Given the description of an element on the screen output the (x, y) to click on. 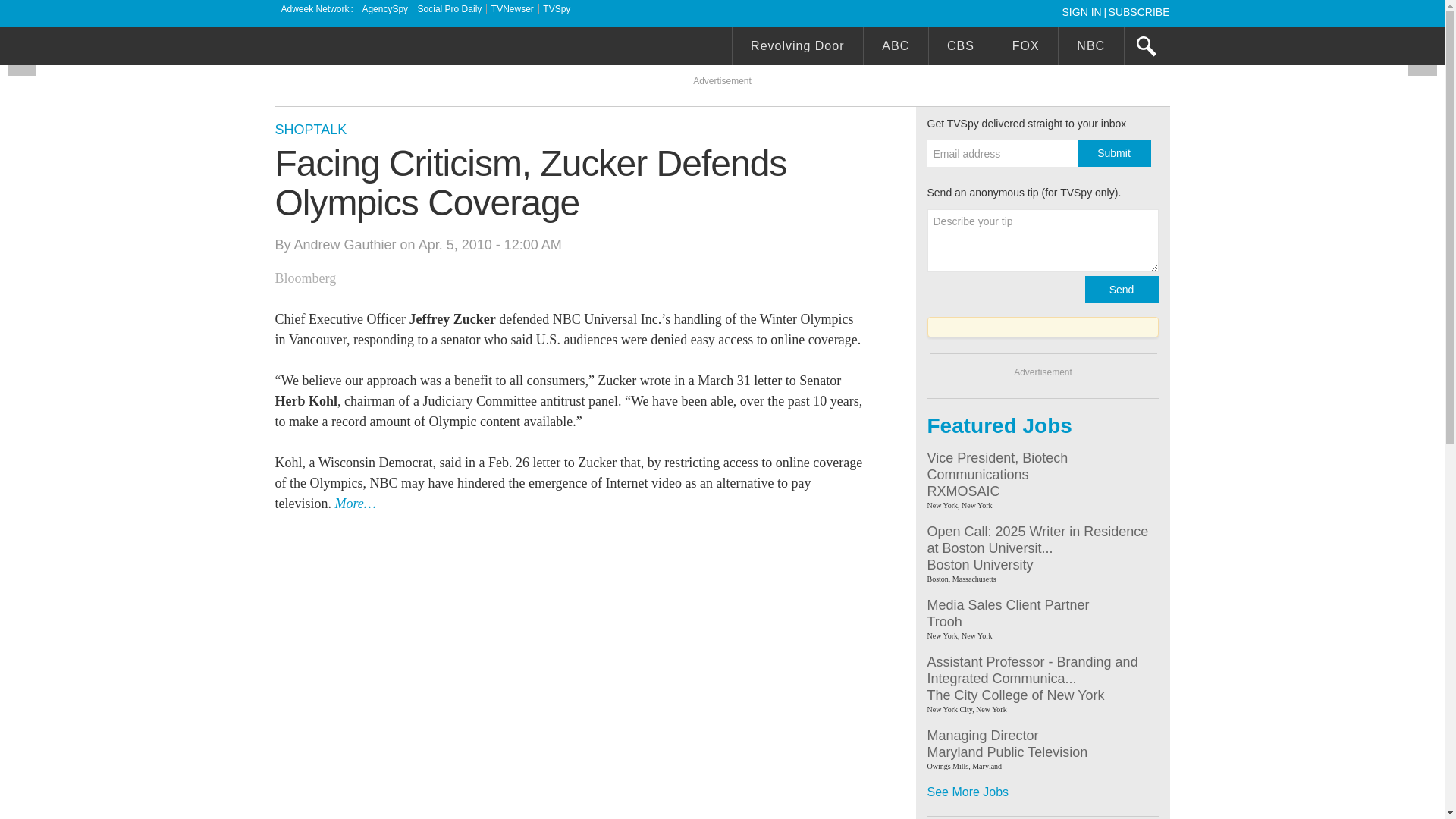
Revolving Door (797, 48)
SIGN IN (1084, 11)
Send (1120, 289)
TVSpy (556, 9)
FOX (1025, 48)
Covering local television news (388, 47)
Adweek Network (316, 9)
Social Pro Daily (449, 9)
NBC (1091, 48)
ABC (895, 48)
Submit (1113, 153)
SUBSCRIBE (1139, 11)
TVNewser (513, 9)
AgencySpy (384, 9)
CBS (960, 48)
